Given the description of an element on the screen output the (x, y) to click on. 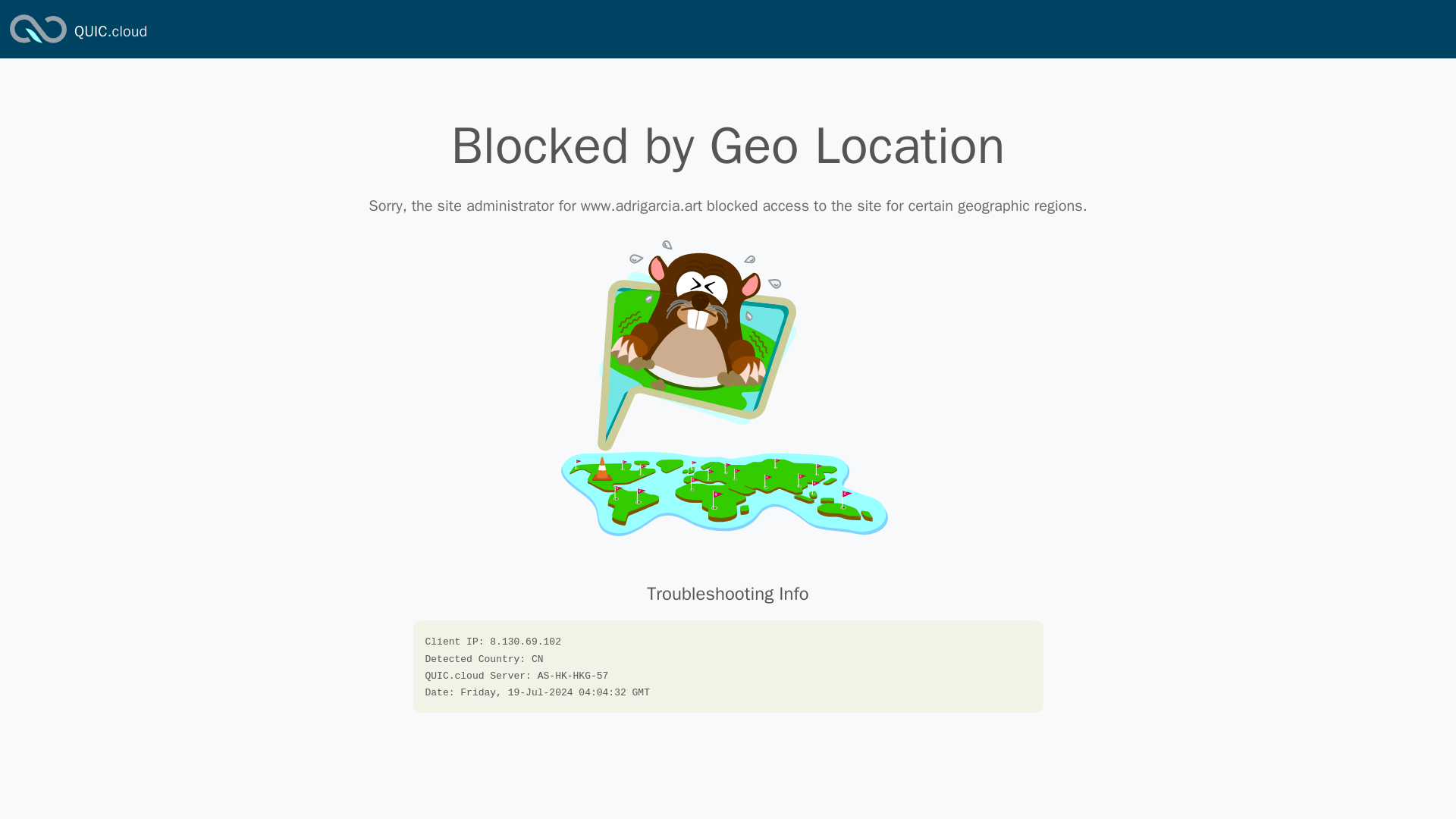
QUIC.cloud (110, 31)
QUIC.cloud (37, 43)
QUIC.cloud (110, 31)
